Given the description of an element on the screen output the (x, y) to click on. 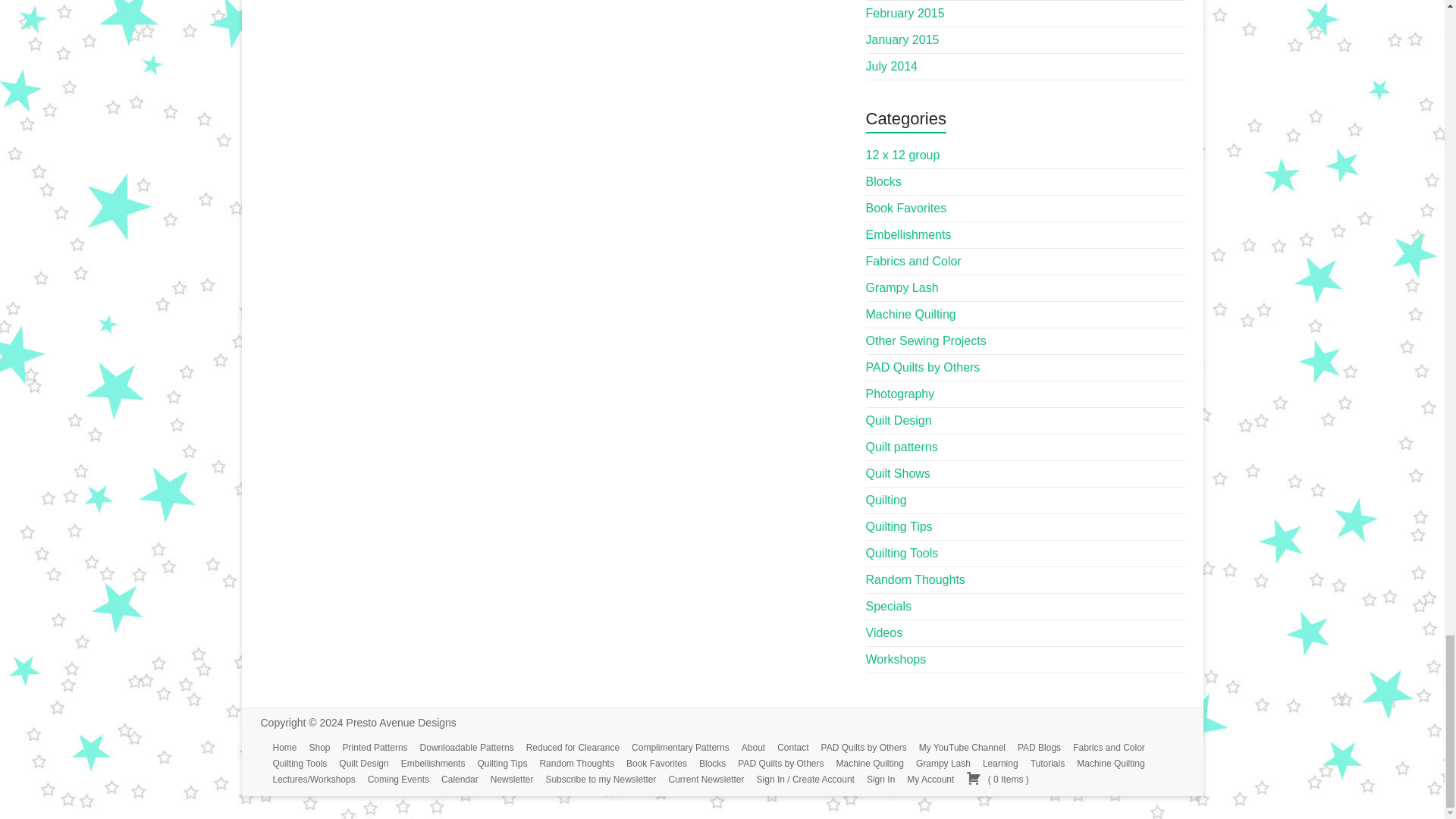
Presto Avenue Designs (401, 722)
